Given the description of an element on the screen output the (x, y) to click on. 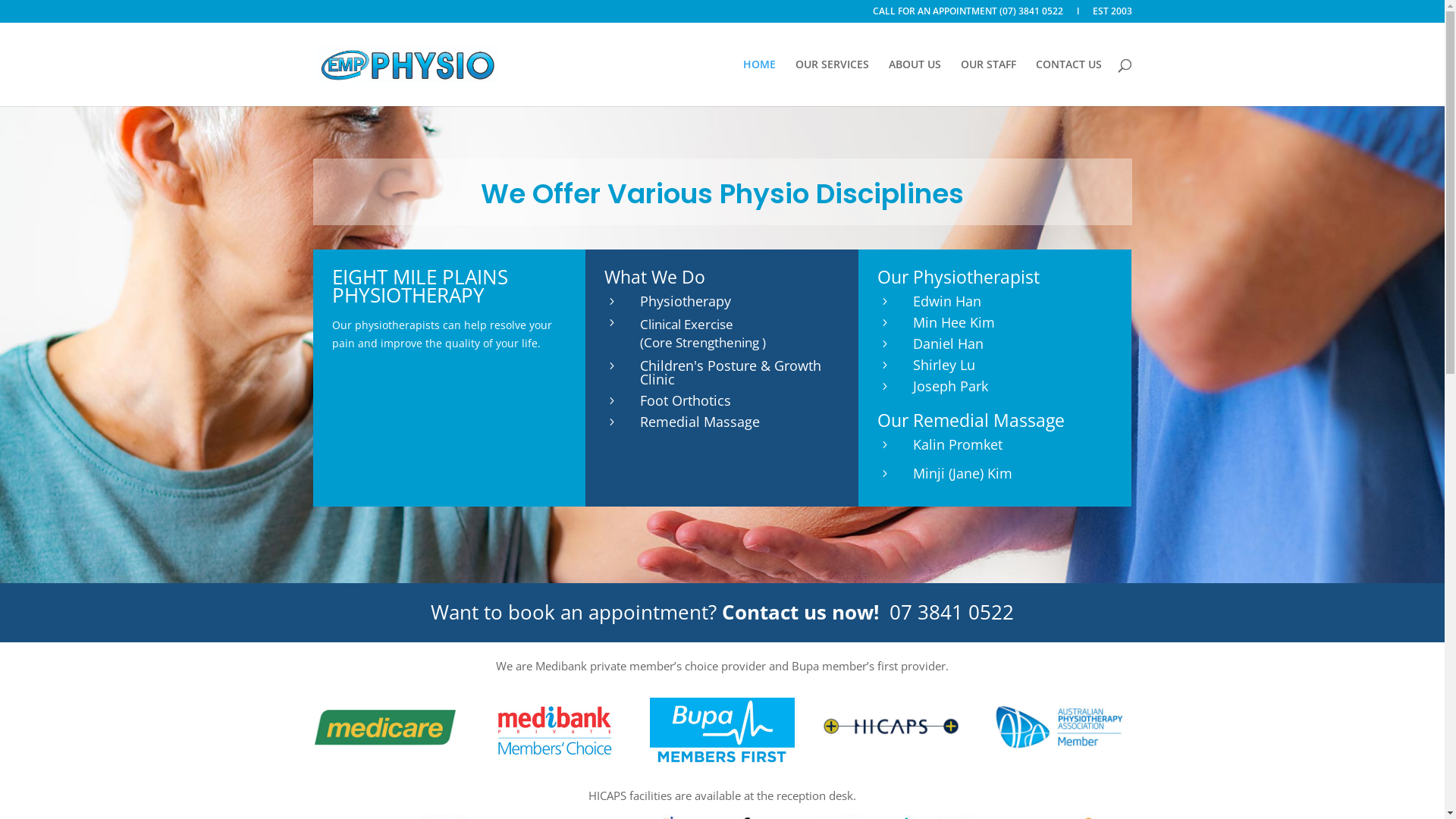
HOME Element type: text (759, 82)
OUR STAFF Element type: text (987, 82)
ABOUT US Element type: text (914, 82)
CONTACT US Element type: text (1068, 82)
EST 2003 Element type: text (1111, 14)
OUR SERVICES Element type: text (831, 82)
CALL FOR AN APPOINTMENT (07) 3841 0522 Element type: text (967, 14)
l Element type: text (1077, 14)
